Given the description of an element on the screen output the (x, y) to click on. 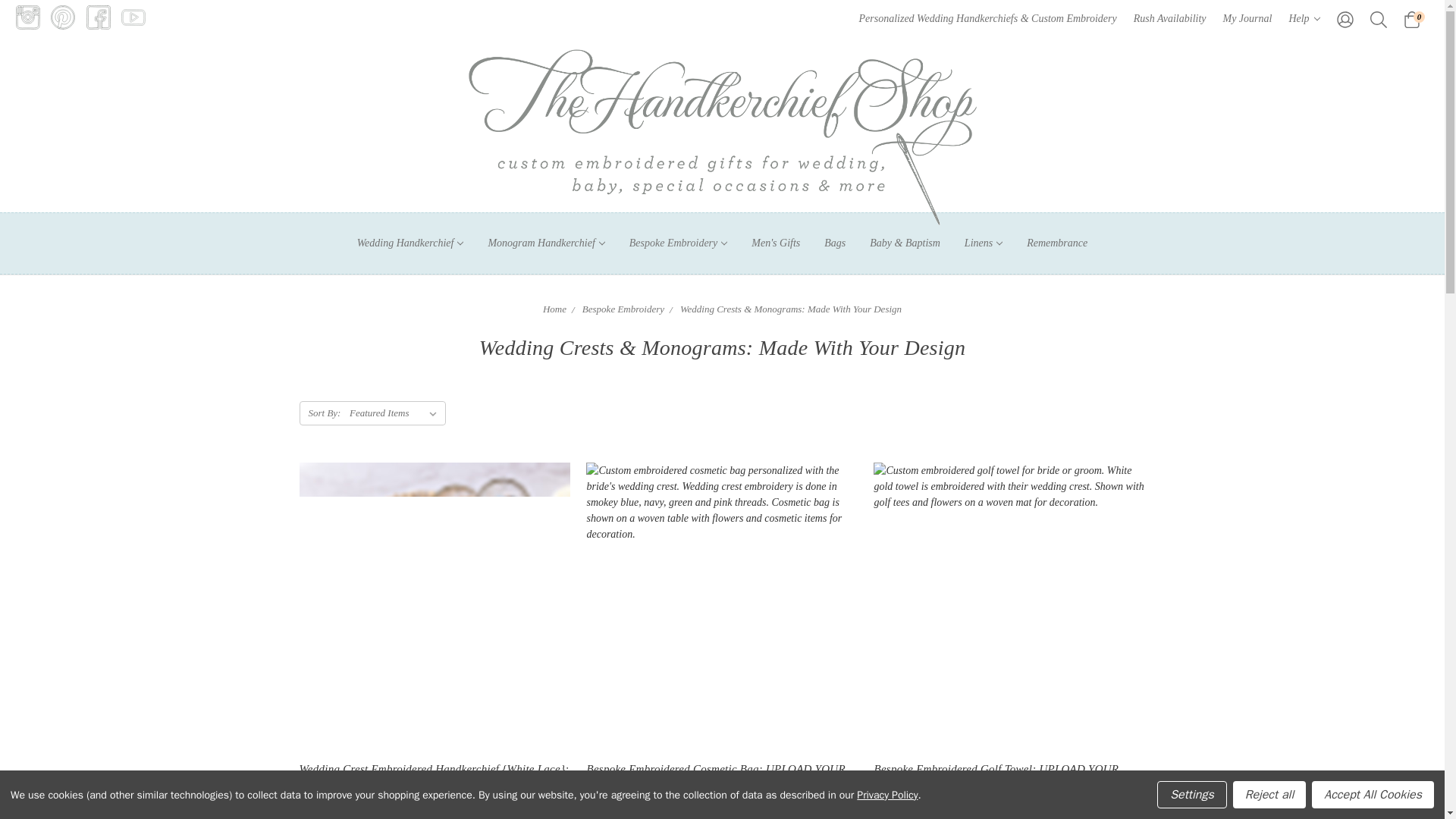
Wedding Handkerchief (410, 242)
Rush Availability (1169, 18)
My Journal (1247, 18)
the Handkerchief Shop (722, 137)
Help (1303, 18)
